Given the description of an element on the screen output the (x, y) to click on. 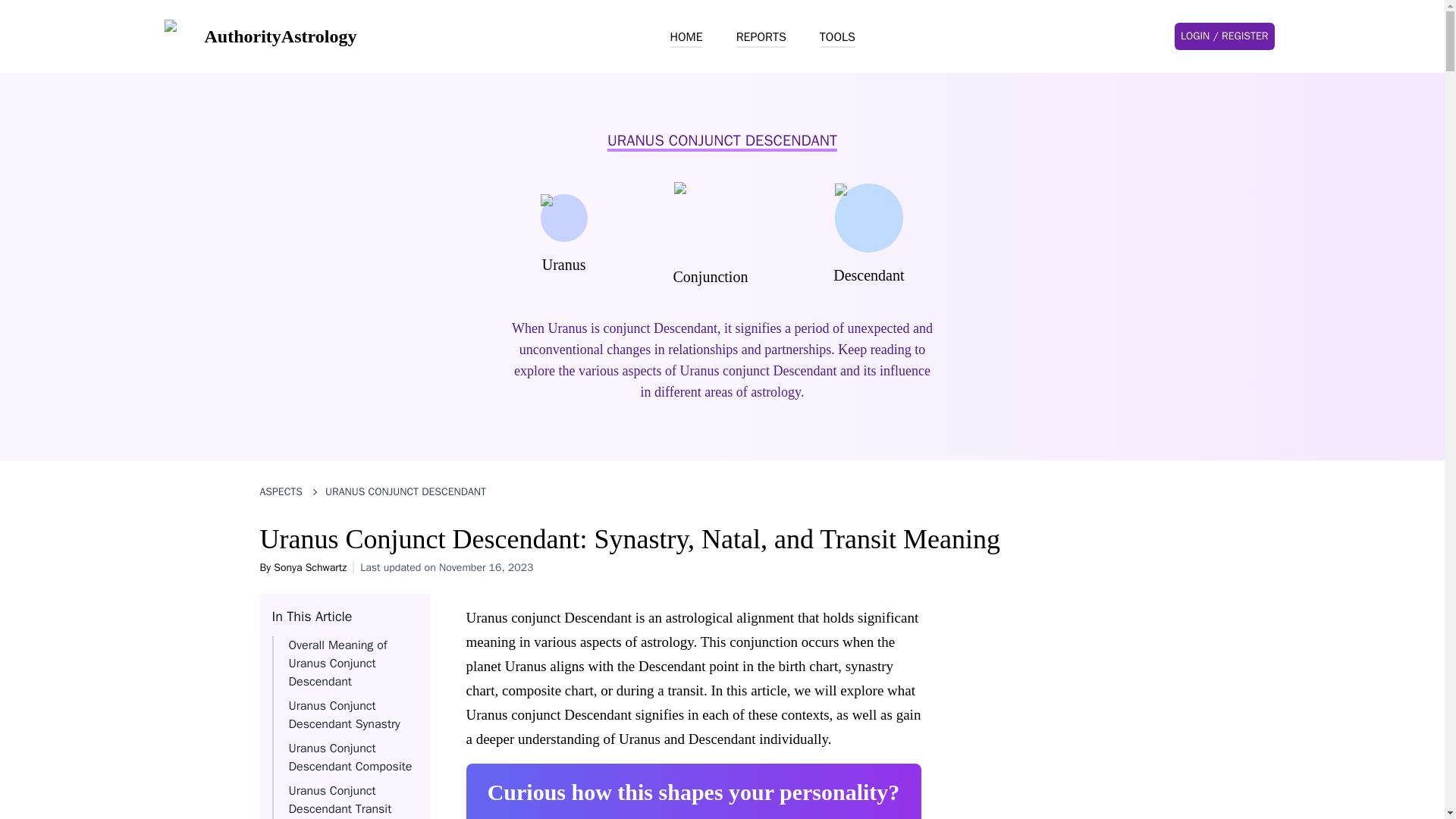
Overall Meaning of Uranus Conjunct Descendant (337, 663)
REPORTS (761, 37)
HOME (686, 37)
Uranus Conjunct Descendant Synastry (343, 715)
Sonya Schwartz (309, 567)
URANUS CONJUNCT DESCENDANT (405, 491)
Uranus Conjunct Descendant Composite (350, 757)
TOOLS (837, 37)
AuthorityAstrology (259, 36)
ASPECTS (280, 491)
Uranus Conjunct Descendant Transit (339, 799)
